Given the description of an element on the screen output the (x, y) to click on. 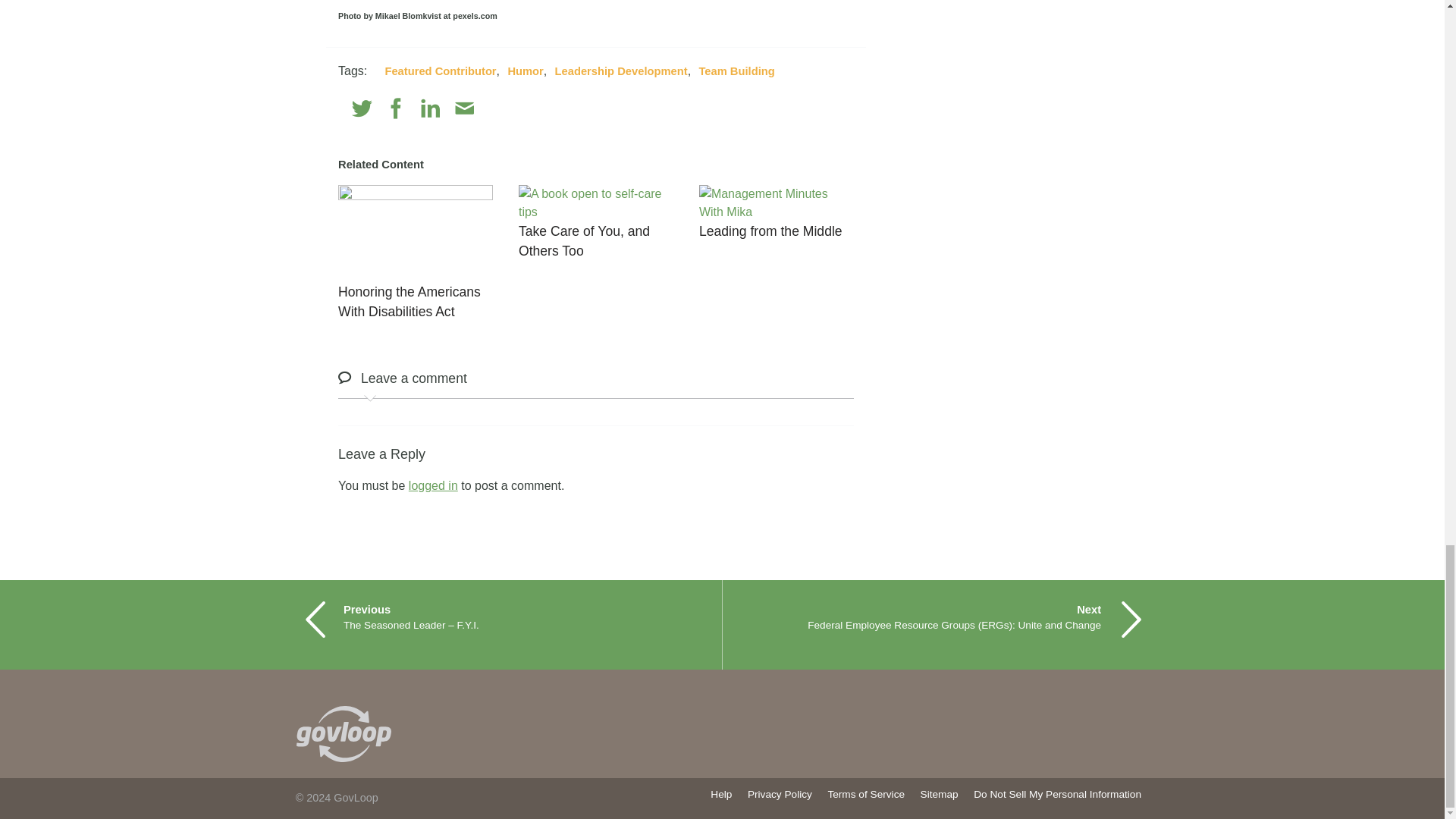
Print (497, 108)
Twitter (362, 108)
Email (464, 108)
Linkedin (430, 108)
Facebook (395, 108)
